Given the description of an element on the screen output the (x, y) to click on. 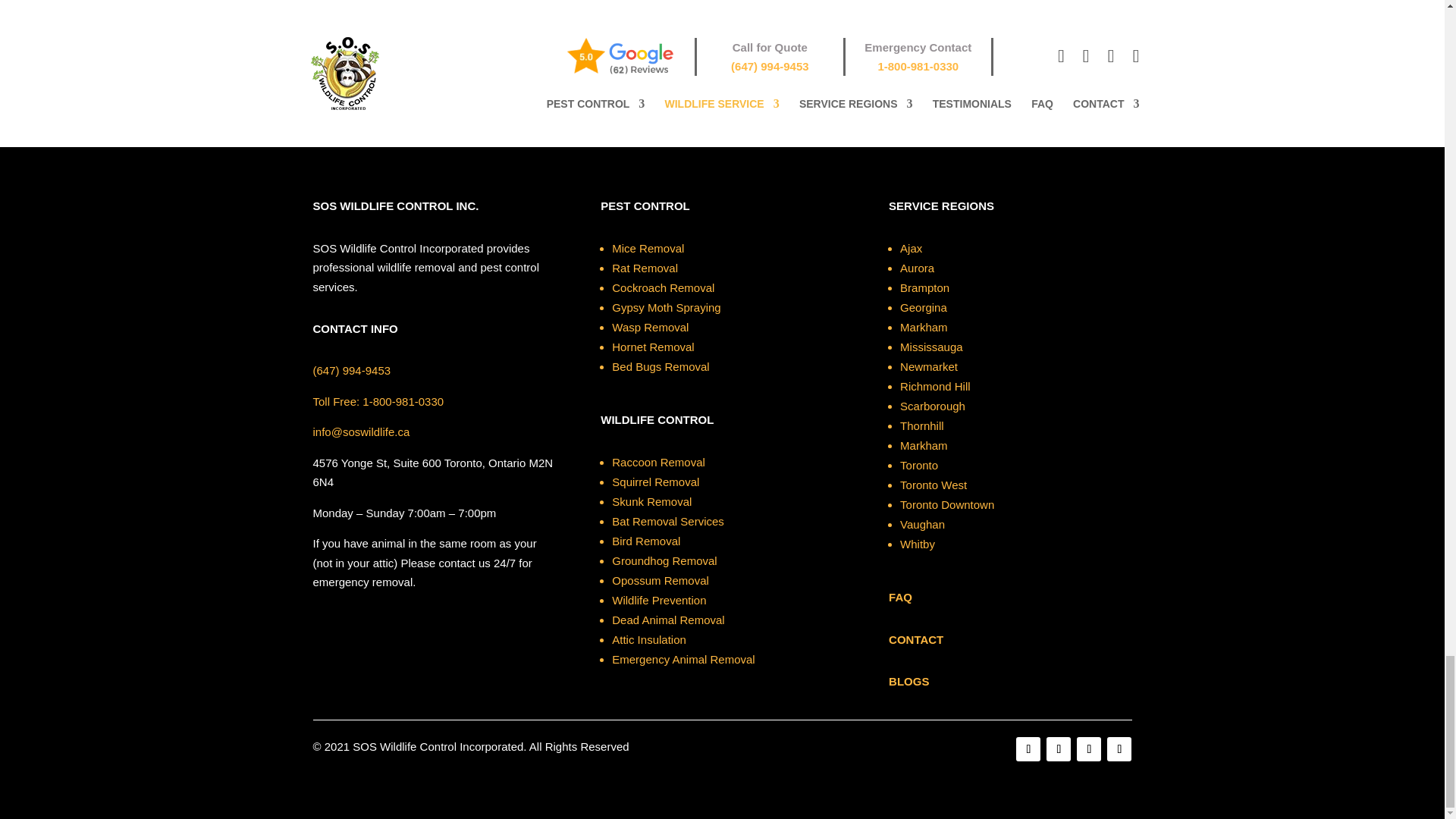
Follow on Facebook (1028, 749)
Follow on LinkedIn (1088, 749)
Follow on Youtube (1118, 749)
Follow on X (1058, 749)
